Given the description of an element on the screen output the (x, y) to click on. 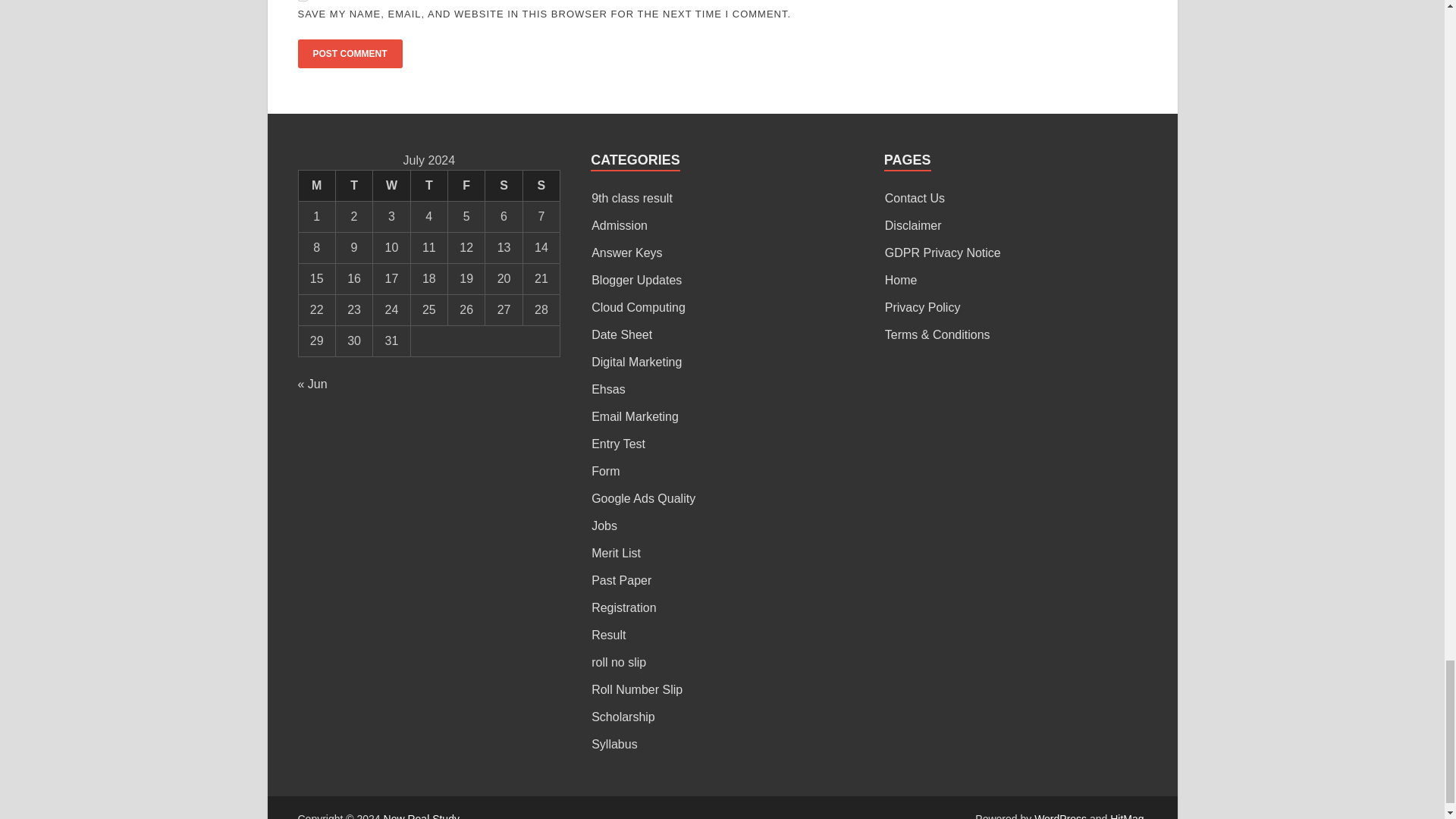
Friday (465, 185)
Thursday (428, 185)
Monday (316, 185)
Tuesday (353, 185)
Wednesday (391, 185)
Post Comment (349, 53)
Post Comment (349, 53)
